Given the description of an element on the screen output the (x, y) to click on. 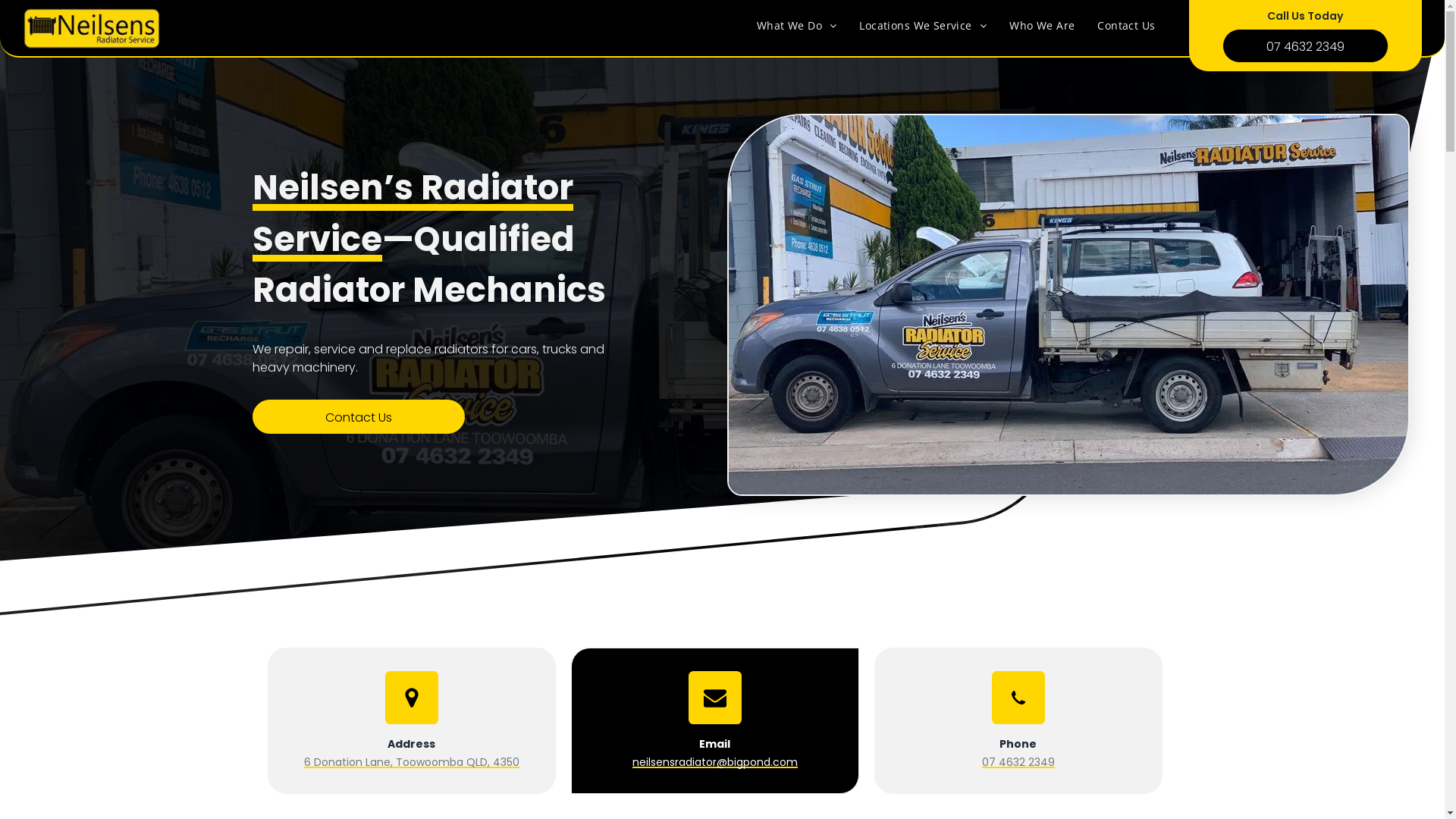
Email Icon Element type: hover (714, 697)
neilsensradiator@bigpond.com Element type: text (714, 761)
6 Donation Lane, Toowoomba QLD, 4350 Element type: text (410, 761)
Locations We Service Element type: text (922, 25)
Contact Us Element type: text (1125, 25)
07 4632 2349 Element type: text (1305, 45)
Phone Icon Element type: hover (1017, 697)
Contact Us Element type: text (357, 416)
Who We Are Element type: text (1041, 25)
07 4632 2349 Element type: text (1017, 761)
What We Do Element type: text (796, 25)
Location Icon Element type: hover (411, 697)
